Given the description of an element on the screen output the (x, y) to click on. 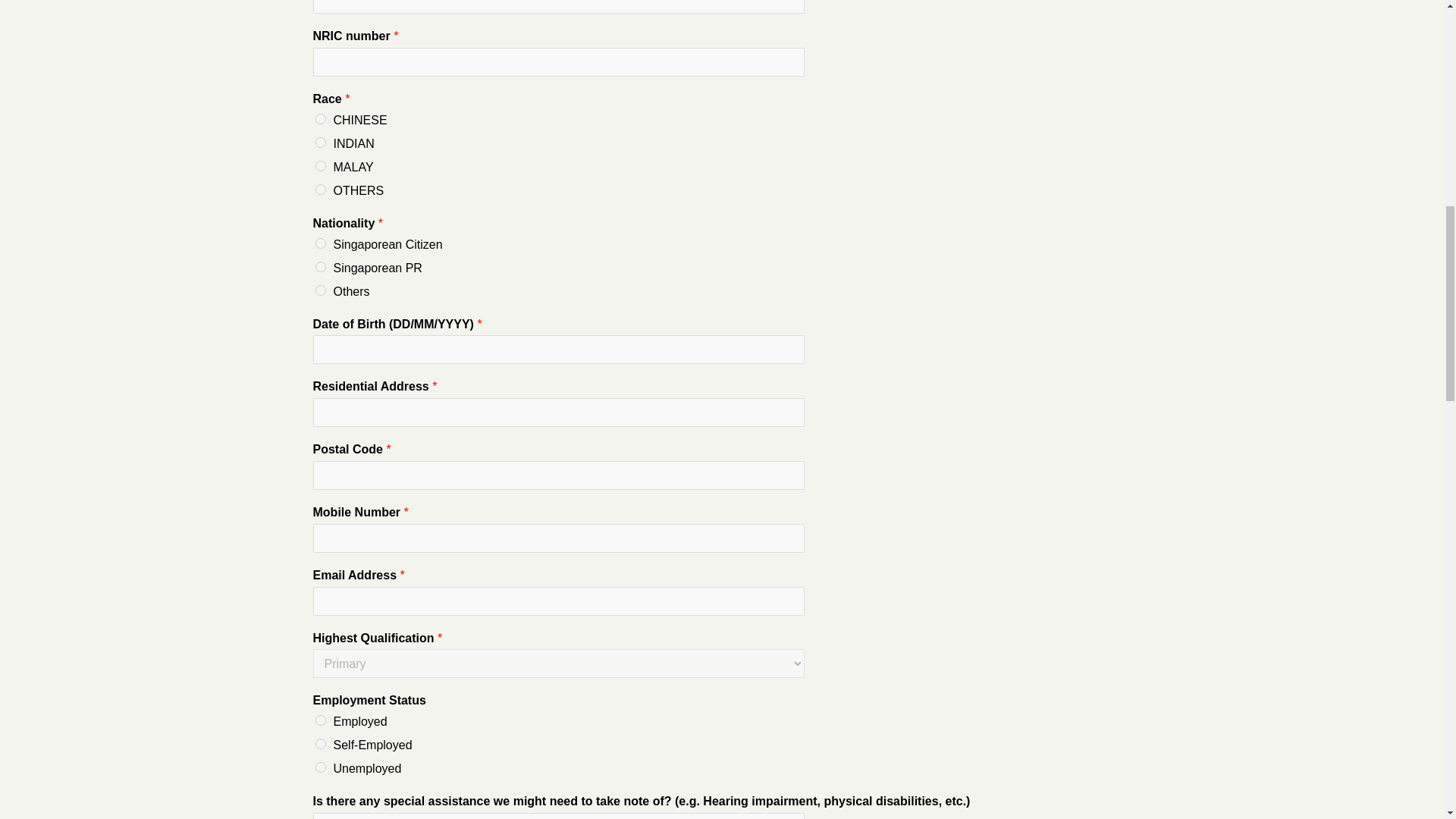
Others (320, 290)
OTHERS (320, 189)
MALAY (320, 165)
CHINESE (320, 118)
INDIAN (320, 142)
Singaporean Citizen (320, 243)
Singaporean PR (320, 266)
